Given the description of an element on the screen output the (x, y) to click on. 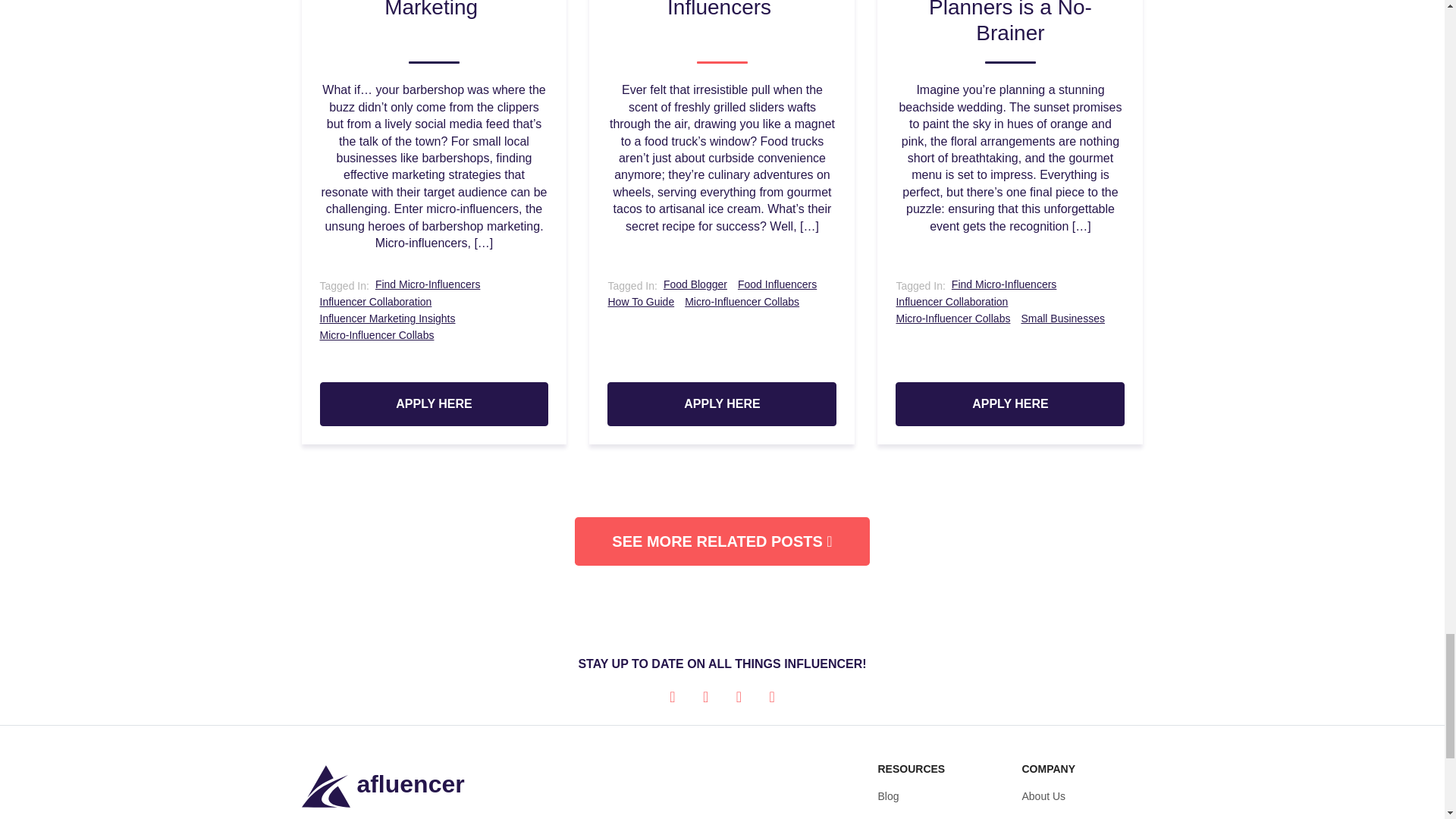
Food Influencers (777, 284)
Food Blogger (694, 284)
Influencer Marketing Insights (387, 319)
Find Micro-Influencers (427, 284)
How To Guide (640, 302)
APPLY HERE (434, 403)
Influencer Collaboration (376, 302)
Micro-Influencer Collabs (741, 302)
APPLY HERE (721, 403)
Micro-Influencers: The Key to Barbershop Marketing  (434, 31)
